Given the description of an element on the screen output the (x, y) to click on. 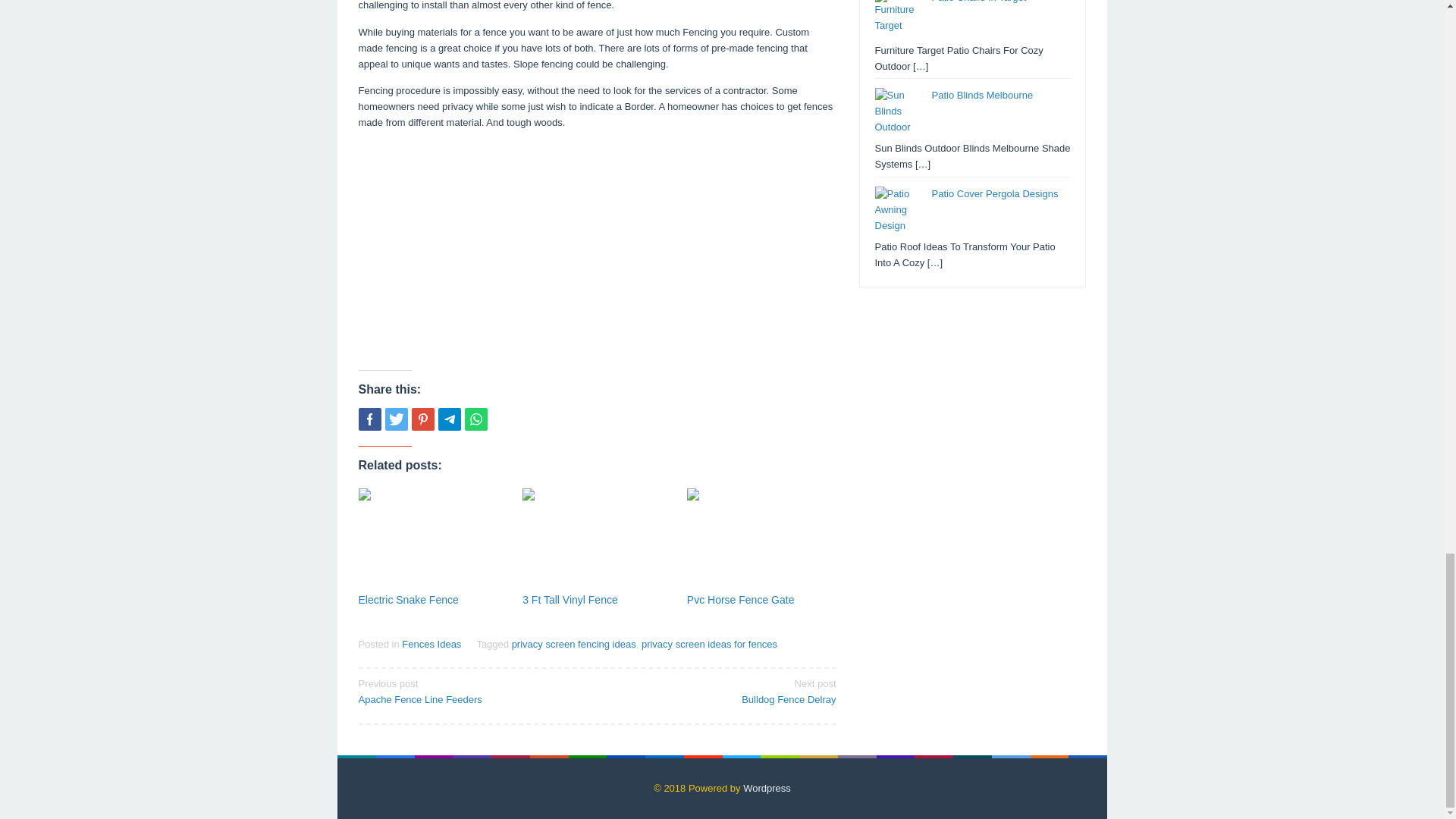
Permalink to: Electric Snake Fence (408, 599)
Tweet this (396, 418)
3 Ft Tall Vinyl Fence (569, 599)
Pvc Horse Fence Gate (740, 599)
Electric Snake Fence (472, 690)
Pin this (408, 599)
Permalink to: Electric Snake Fence (421, 418)
Share this (432, 538)
Permalink to: 3 Ft Tall Vinyl Fence (369, 418)
